Given the description of an element on the screen output the (x, y) to click on. 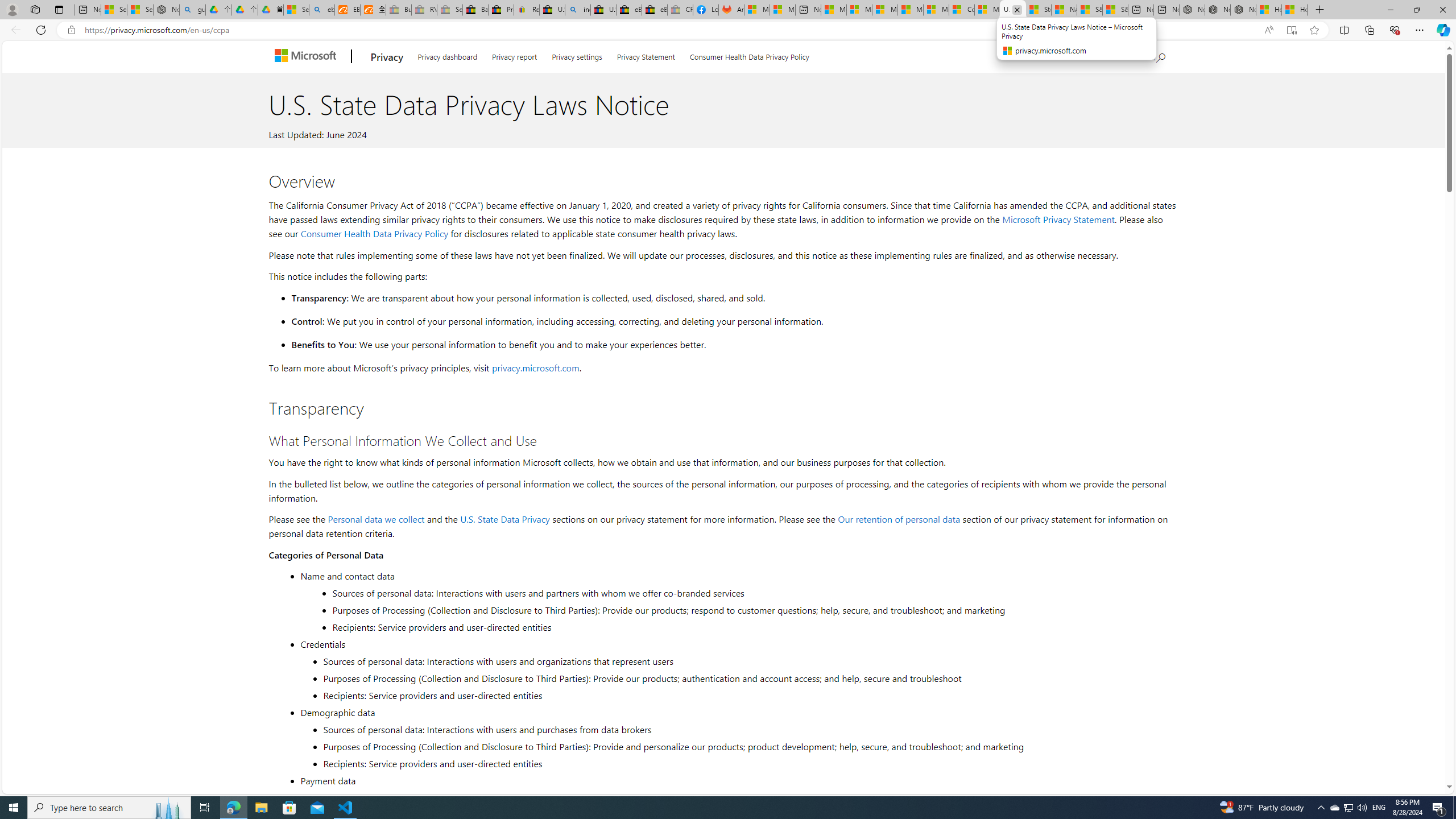
Privacy Statement (645, 54)
Privacy dashboard (447, 54)
Privacy Statement (645, 54)
Register: Create a personal eBay account (526, 9)
Credentials (736, 644)
Privacy report (514, 54)
Press Room - eBay Inc. (500, 9)
Privacy settings (576, 54)
